Given the description of an element on the screen output the (x, y) to click on. 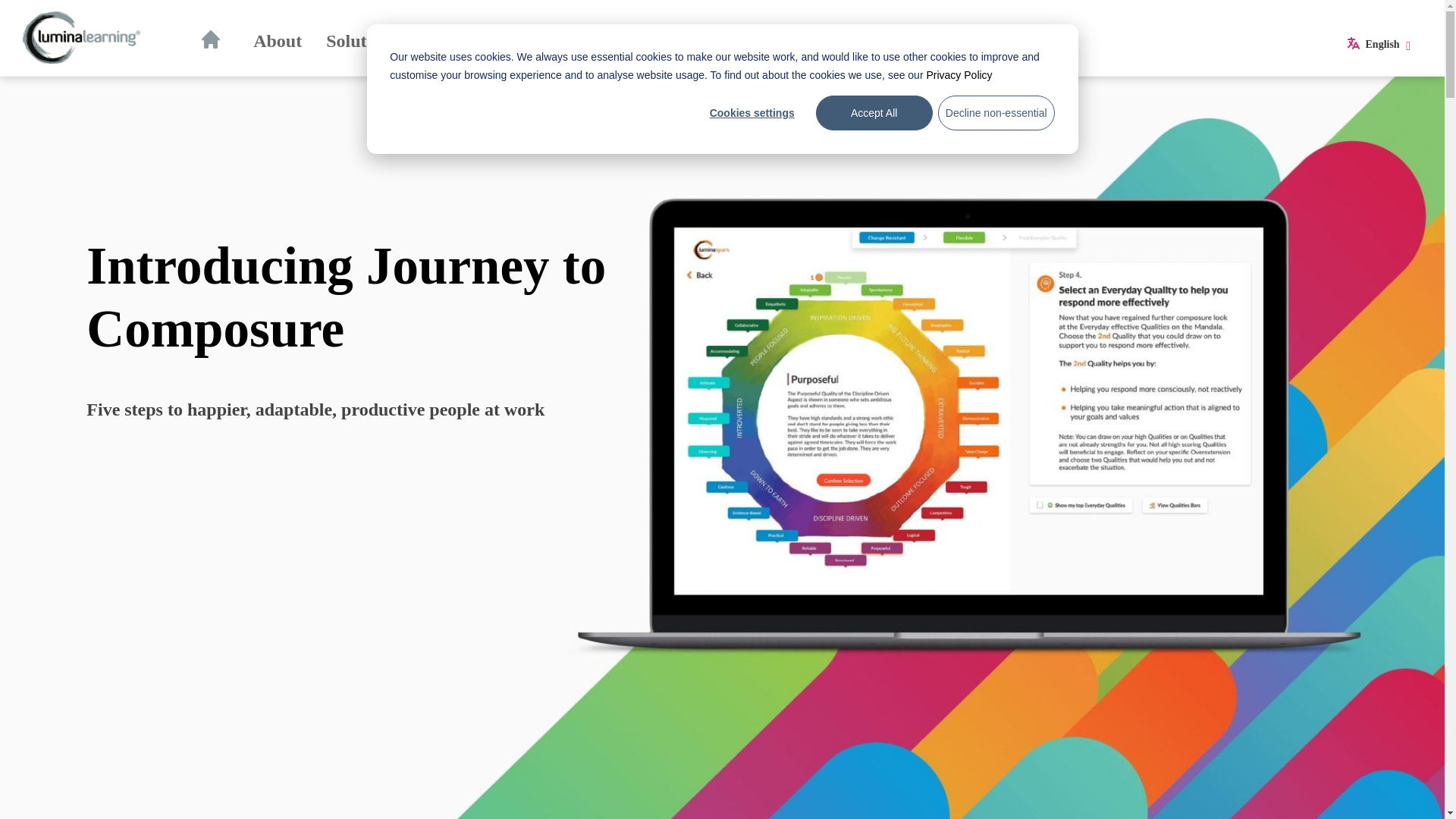
Accept All (874, 112)
Decline non-essential (995, 112)
Solutions (362, 40)
Resources (632, 40)
Cookies settings (752, 112)
Products (456, 40)
Home (215, 40)
About (277, 40)
Events (541, 40)
